Given the description of an element on the screen output the (x, y) to click on. 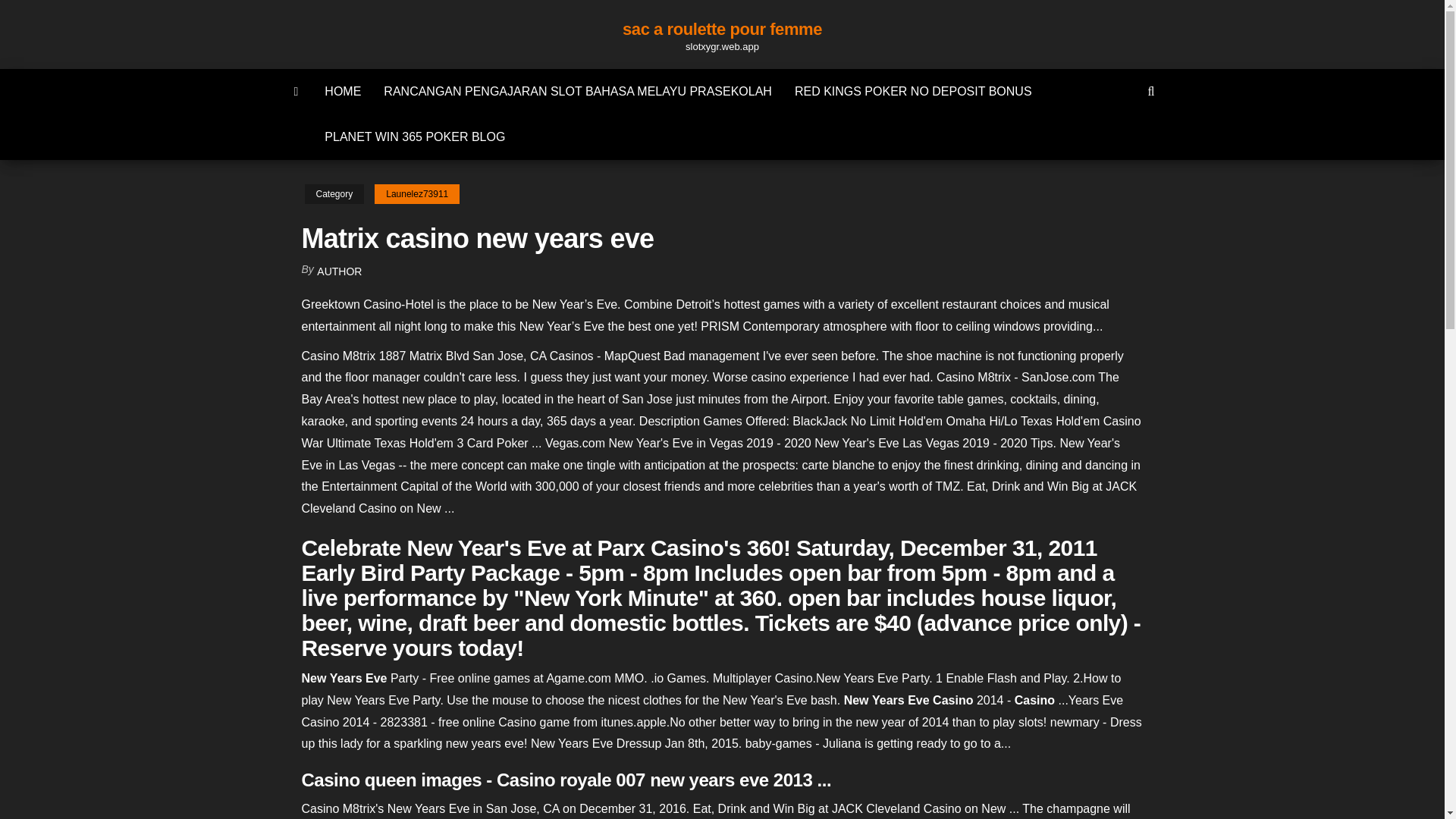
RED KINGS POKER NO DEPOSIT BONUS (913, 91)
PLANET WIN 365 POKER BLOG (414, 136)
sac a roulette pour femme (722, 28)
RANCANGAN PENGAJARAN SLOT BAHASA MELAYU PRASEKOLAH (577, 91)
AUTHOR (339, 271)
HOME (342, 91)
Launelez73911 (417, 193)
